Given the description of an element on the screen output the (x, y) to click on. 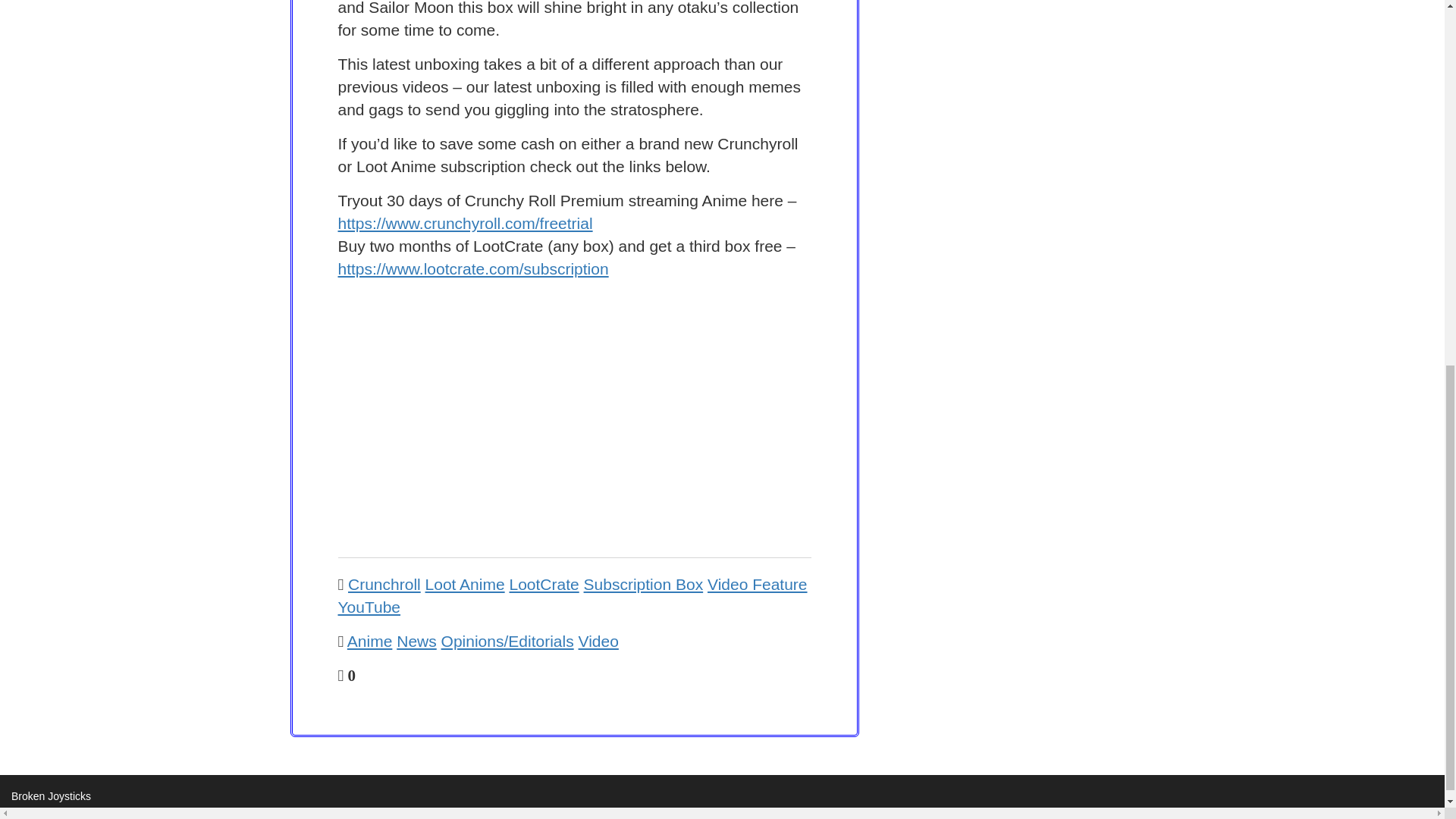
Video Feature (757, 583)
Anime (370, 641)
Loot Anime (465, 583)
YouTube (369, 606)
Crunchroll (383, 583)
Video (598, 641)
Subscription Box (643, 583)
News (416, 641)
LootCrate (543, 583)
